Given the description of an element on the screen output the (x, y) to click on. 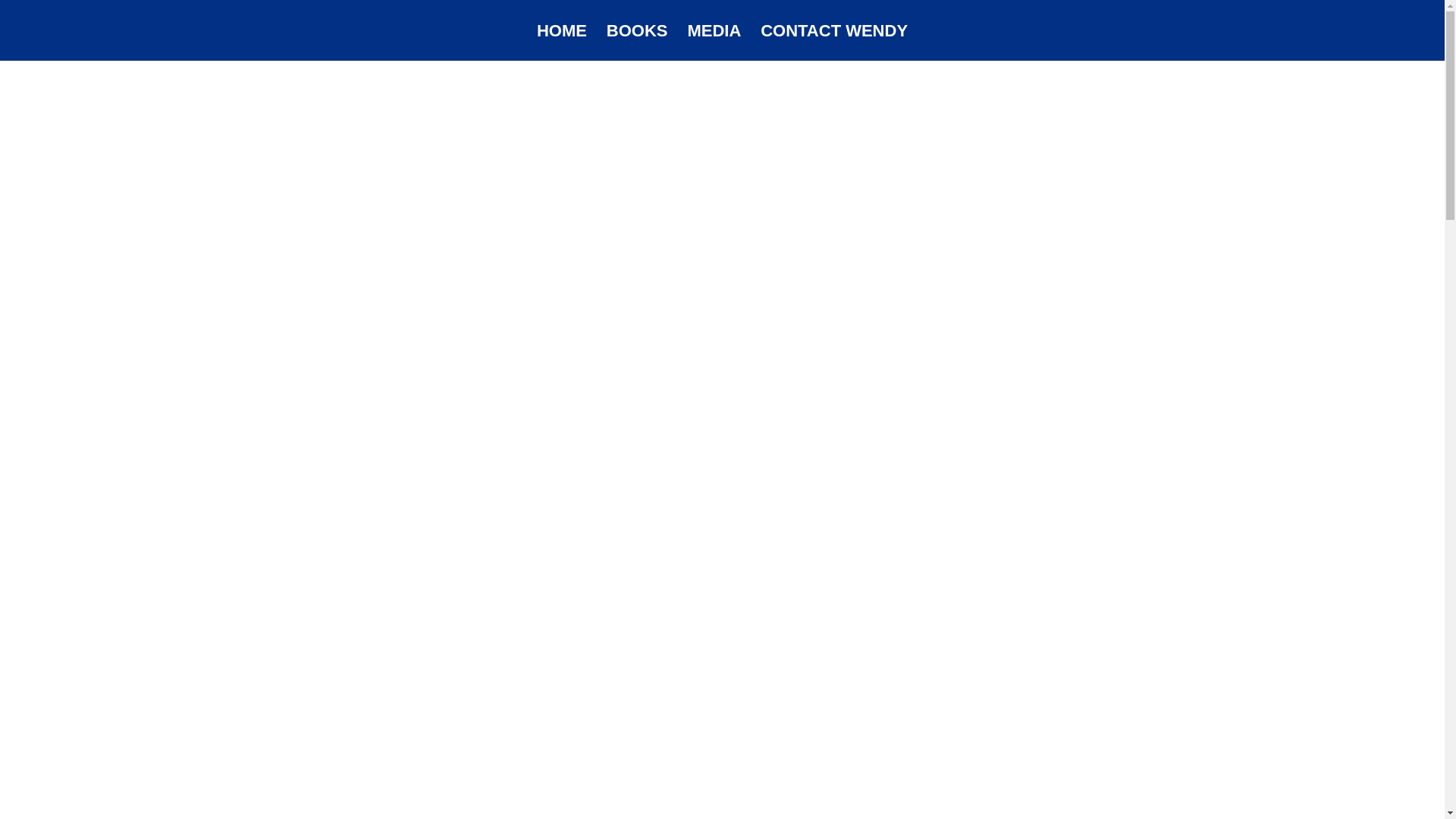
BOOKS (637, 42)
CONTACT WENDY (833, 42)
MEDIA (714, 42)
HOME (561, 42)
